Given the description of an element on the screen output the (x, y) to click on. 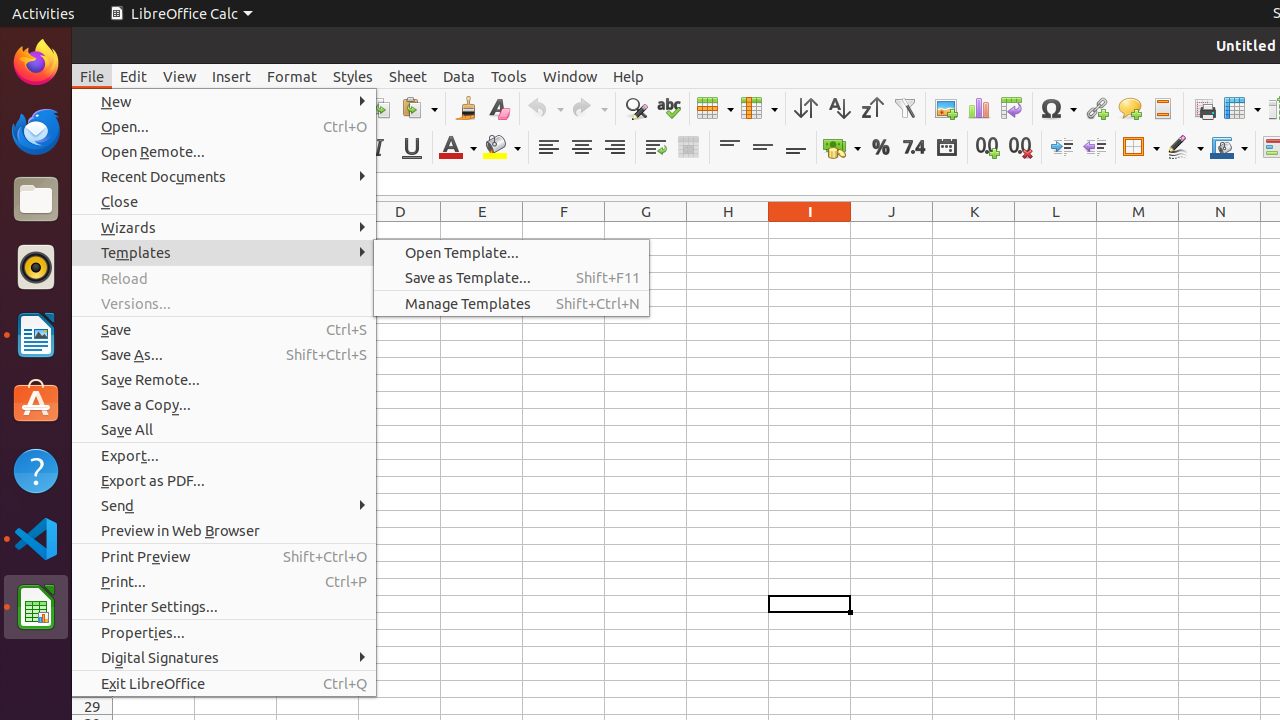
Align Center Element type: push-button (581, 147)
Font Color Element type: push-button (458, 147)
Symbol Element type: push-button (1058, 108)
Background Color Element type: push-button (502, 147)
Image Element type: push-button (945, 108)
